Given the description of an element on the screen output the (x, y) to click on. 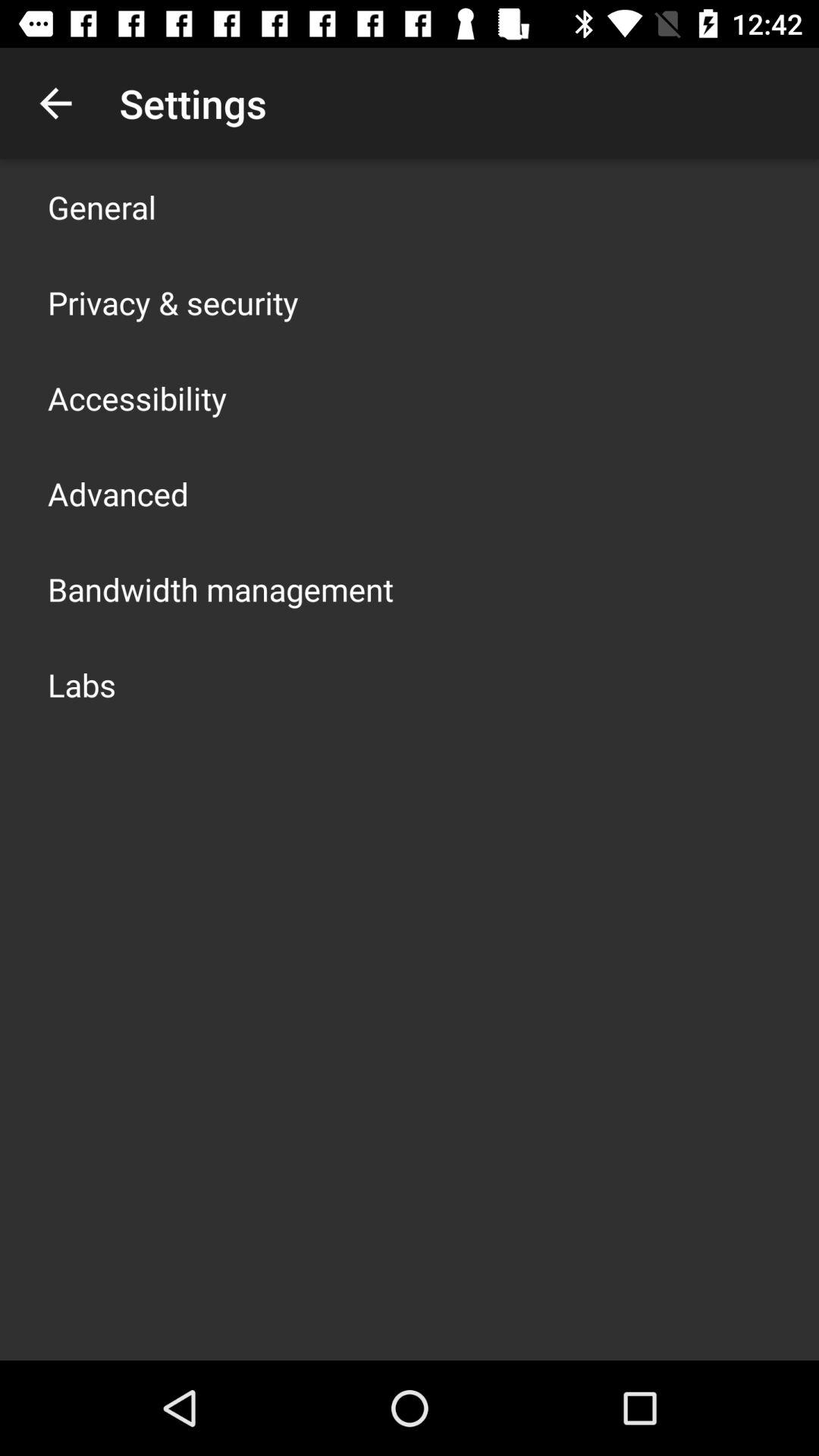
select privacy & security app (172, 302)
